Given the description of an element on the screen output the (x, y) to click on. 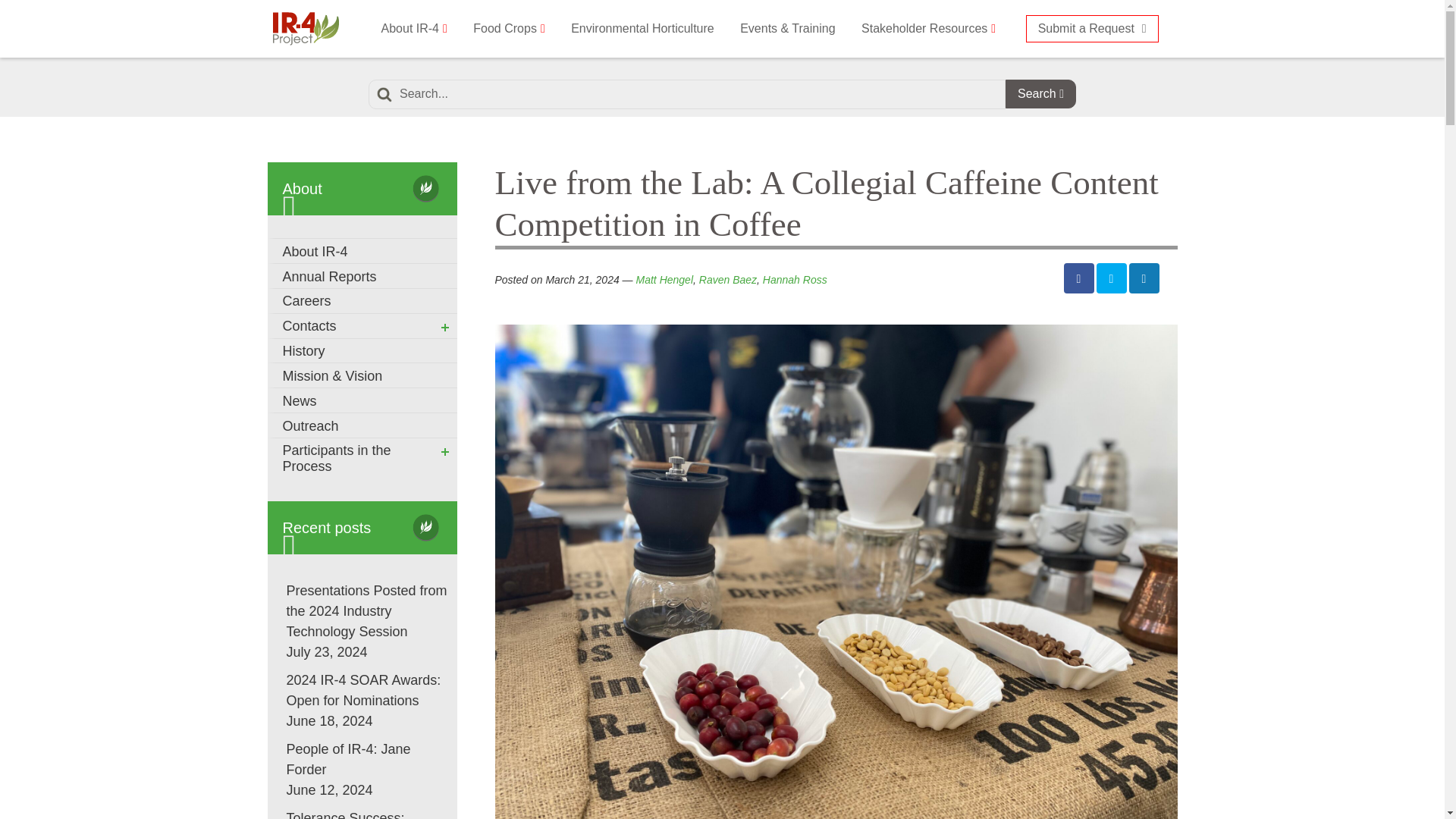
Search... (687, 93)
Stakeholder Resources (928, 28)
Matt Hengel (664, 279)
Hannah Ross (794, 279)
Link to IR4 Home Page (304, 28)
Raven Baez (727, 279)
Food Crops (508, 28)
Search... (687, 93)
Search (1040, 93)
Search (1040, 93)
Environmental Horticulture (642, 28)
About IR-4 (413, 28)
Submit a Request (1092, 28)
